Given the description of an element on the screen output the (x, y) to click on. 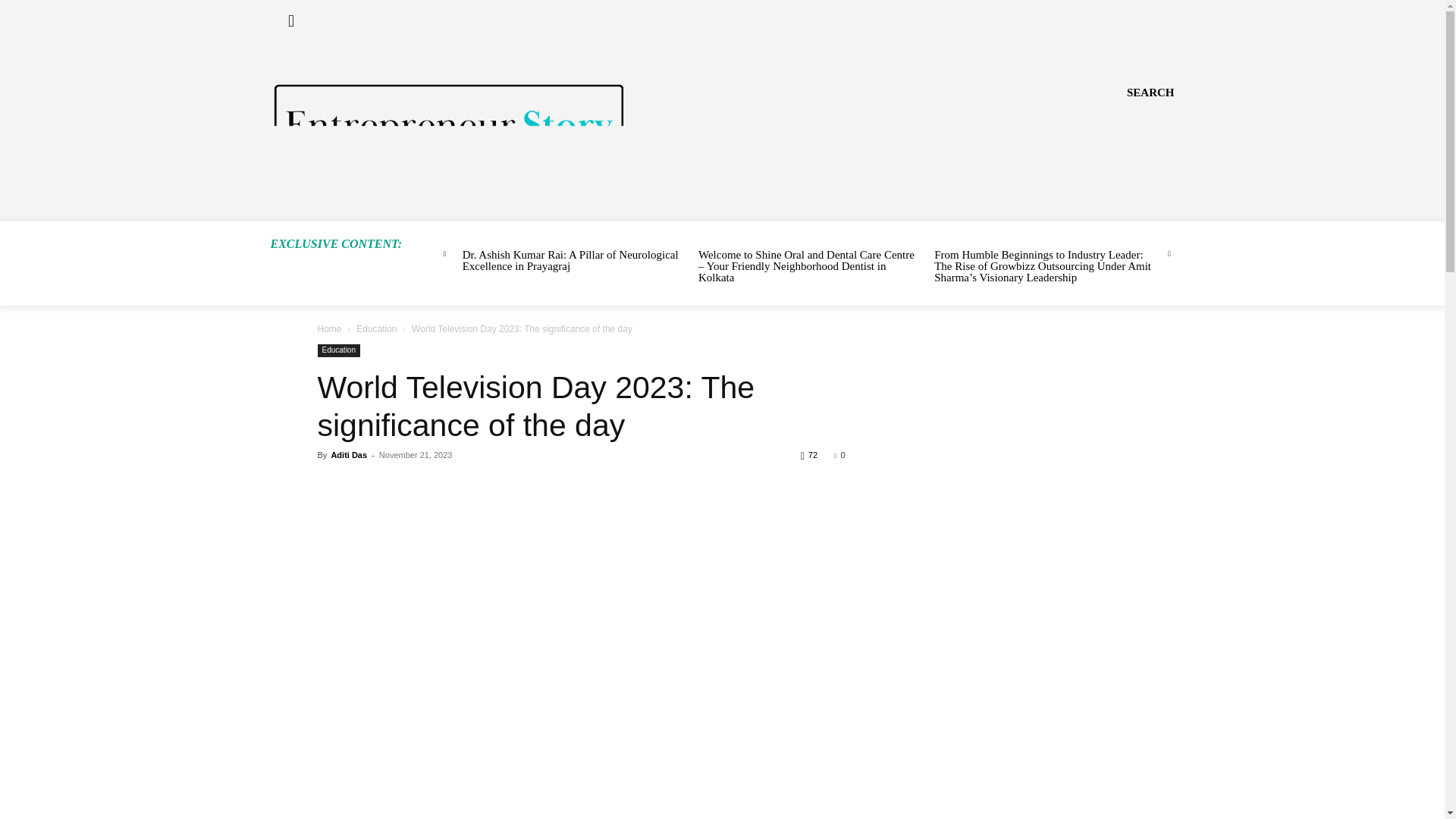
Home (328, 328)
Aditi Das (348, 454)
Education (376, 328)
Education (338, 350)
0 (839, 454)
View all posts in Education (376, 328)
